Given the description of an element on the screen output the (x, y) to click on. 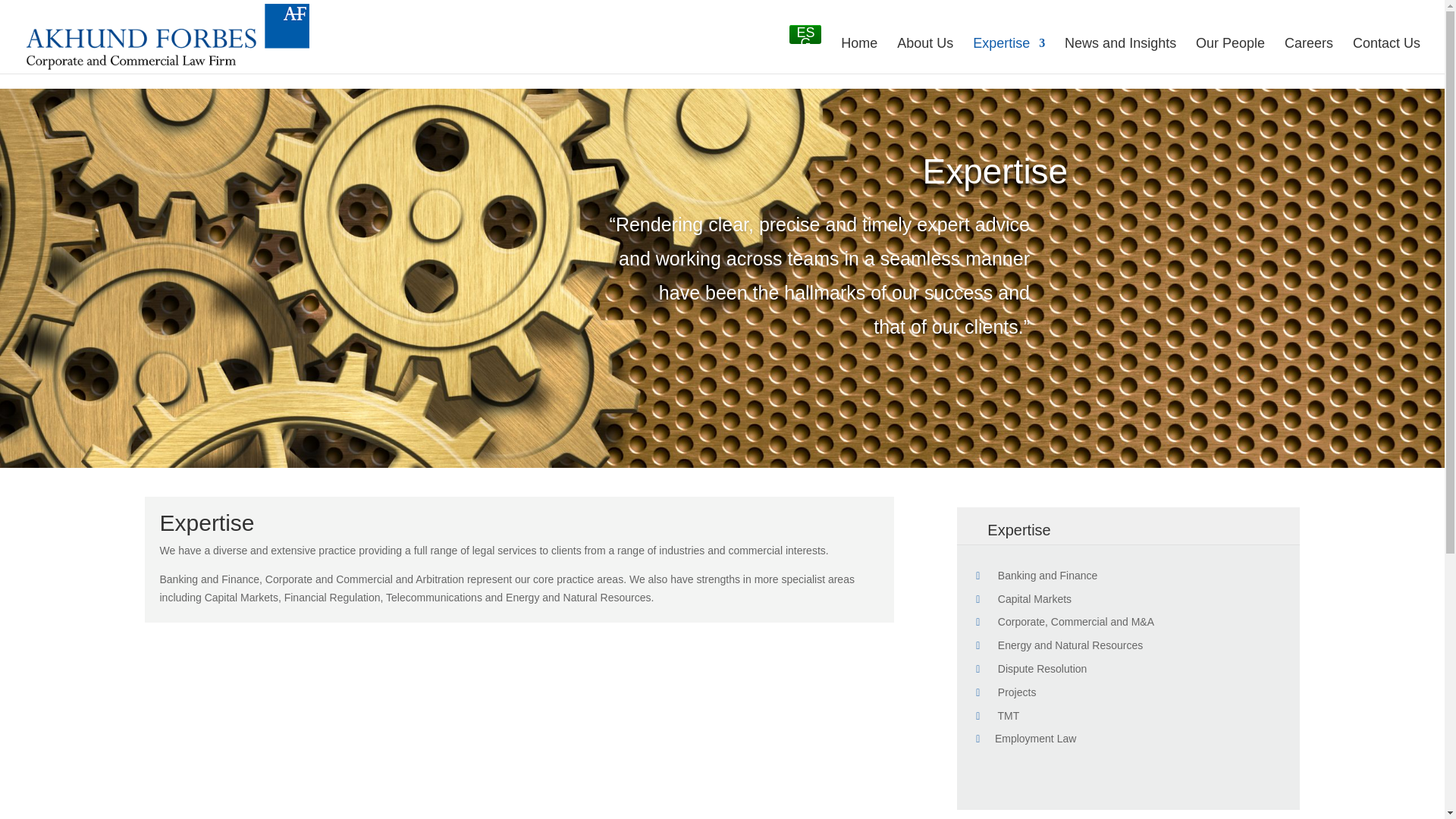
ESG (805, 34)
Expertise (1008, 55)
Careers (1308, 55)
      Projects (1005, 692)
      Banking and Finance (1036, 575)
      TMT (997, 715)
About Us (924, 55)
News and Insights (1120, 55)
      Capital Markets (1023, 598)
Our People (1230, 55)
      Energy and Natural Resources (1058, 645)
Contact Us (1386, 55)
Home (859, 55)
      Dispute Resolution (1030, 668)
